Given the description of an element on the screen output the (x, y) to click on. 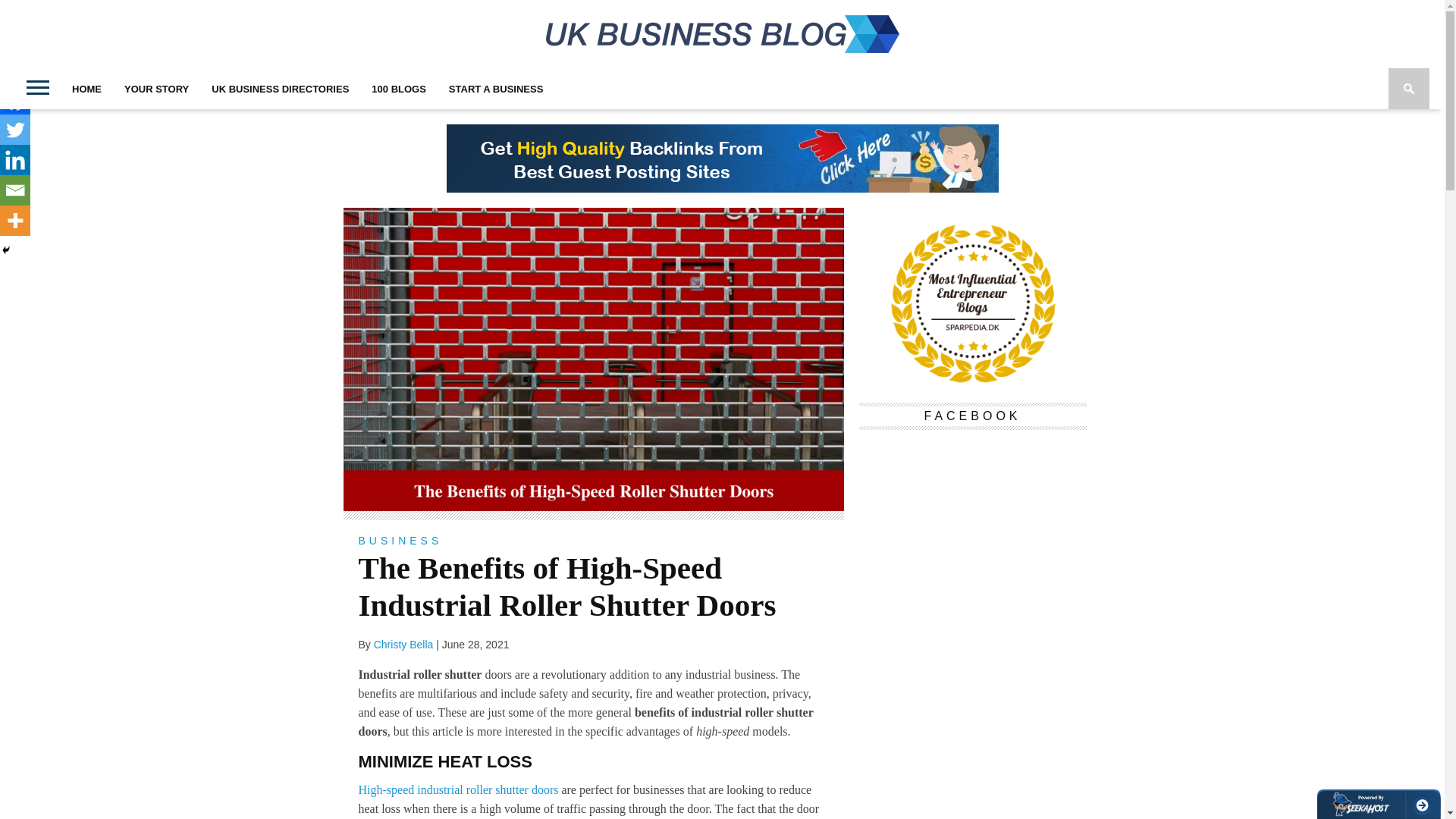
UK BUSINESS DIRECTORIES (279, 87)
Facebook (15, 99)
YOUR STORY (156, 87)
Posts by Christy Bella (403, 644)
Hide (5, 250)
Twitter (15, 129)
High-speed industrial roller shutter doors (457, 789)
Christy Bella (403, 644)
Email (15, 190)
Banners for Most Influential Entrepreneur Blogs (972, 380)
Linkedin (15, 159)
More (15, 220)
100 BLOGS (398, 87)
HOME (87, 87)
START A BUSINESS (496, 87)
